Given the description of an element on the screen output the (x, y) to click on. 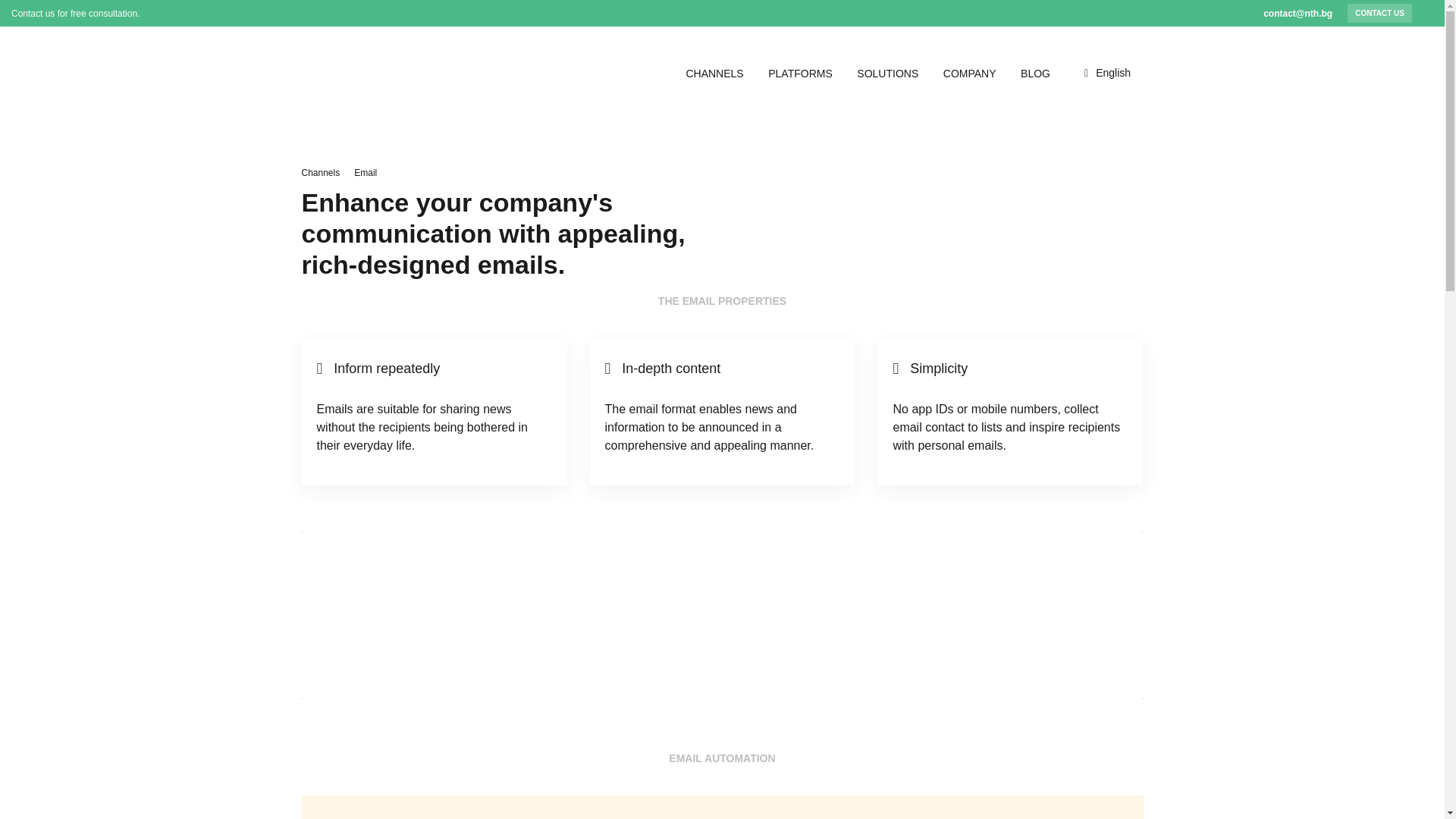
CHANNELS (718, 73)
CONTACT US (722, 653)
CONTACT US (1380, 13)
English (1113, 72)
PLATFORMS (804, 73)
SOLUTIONS (892, 73)
COMPANY (974, 73)
Channels (320, 172)
BLOG (1034, 73)
